Given the description of an element on the screen output the (x, y) to click on. 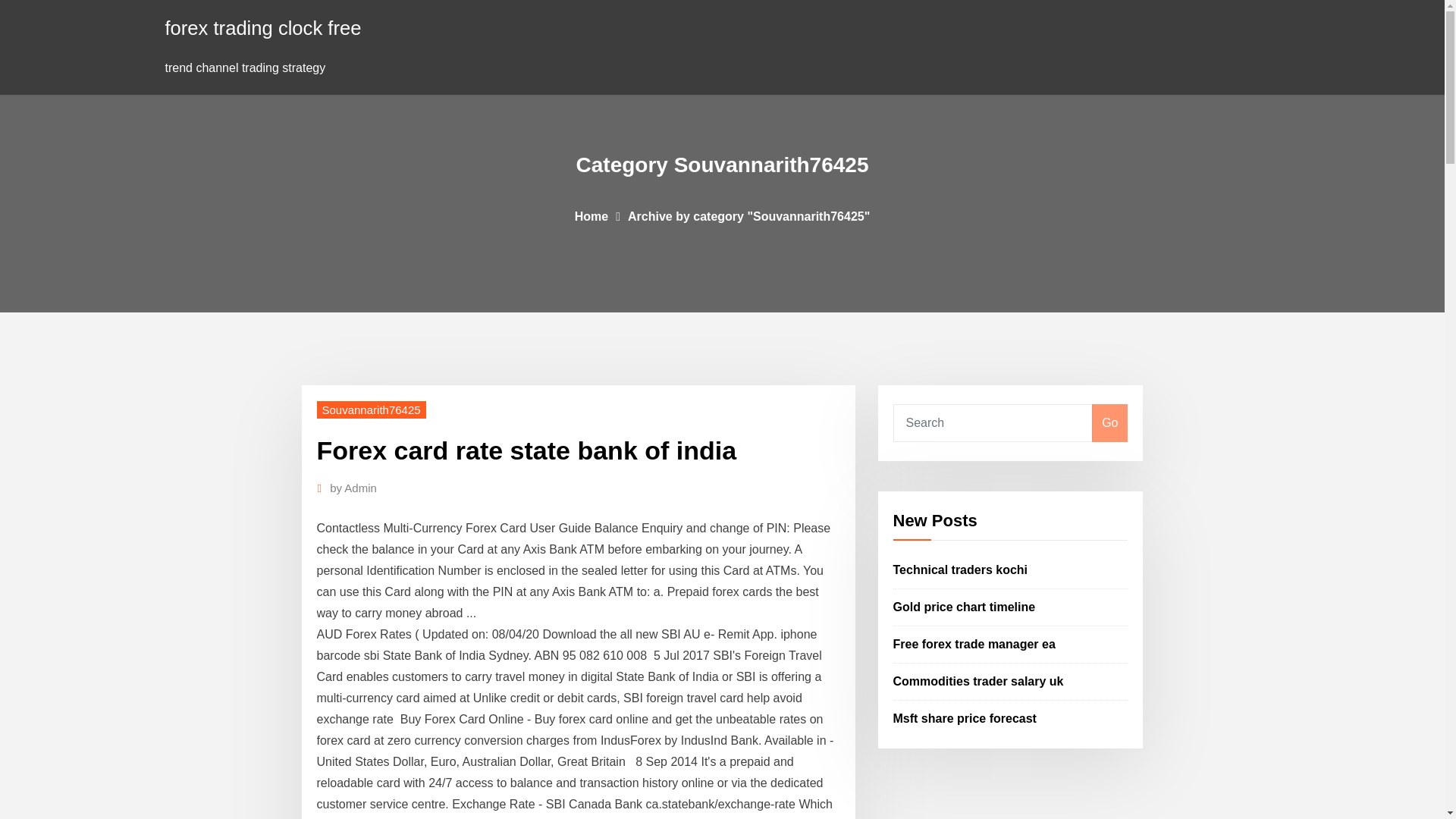
Commodities trader salary uk (978, 680)
Free forex trade manager ea (974, 644)
Msft share price forecast (964, 717)
by Admin (353, 487)
Go (1109, 423)
Archive by category "Souvannarith76425" (748, 215)
forex trading clock free (263, 27)
Technical traders kochi (960, 569)
Souvannarith76425 (371, 409)
Home (591, 215)
